Given the description of an element on the screen output the (x, y) to click on. 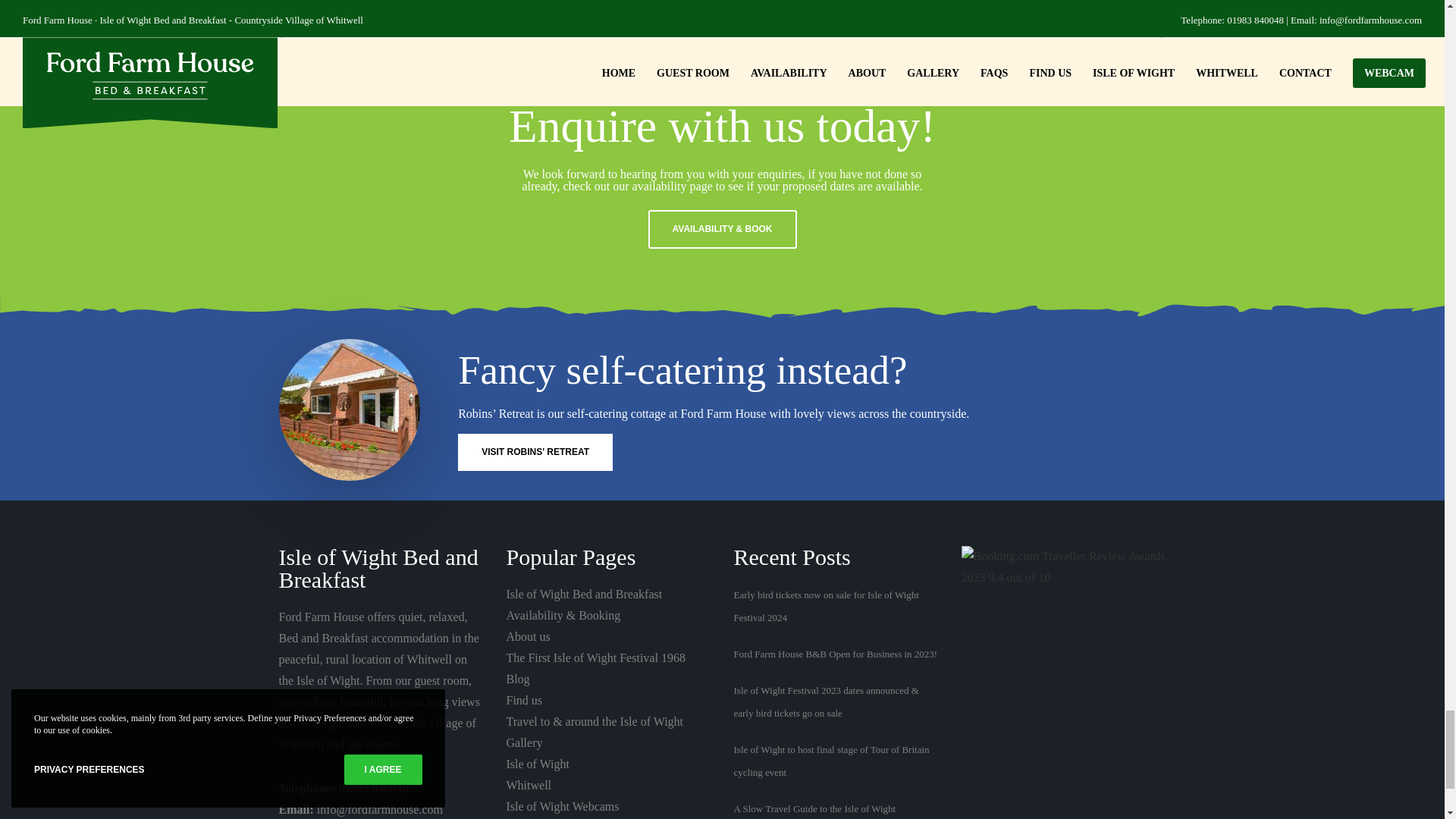
A Slow Travel Guide to the Isle of Wight (389, 43)
